Given the description of an element on the screen output the (x, y) to click on. 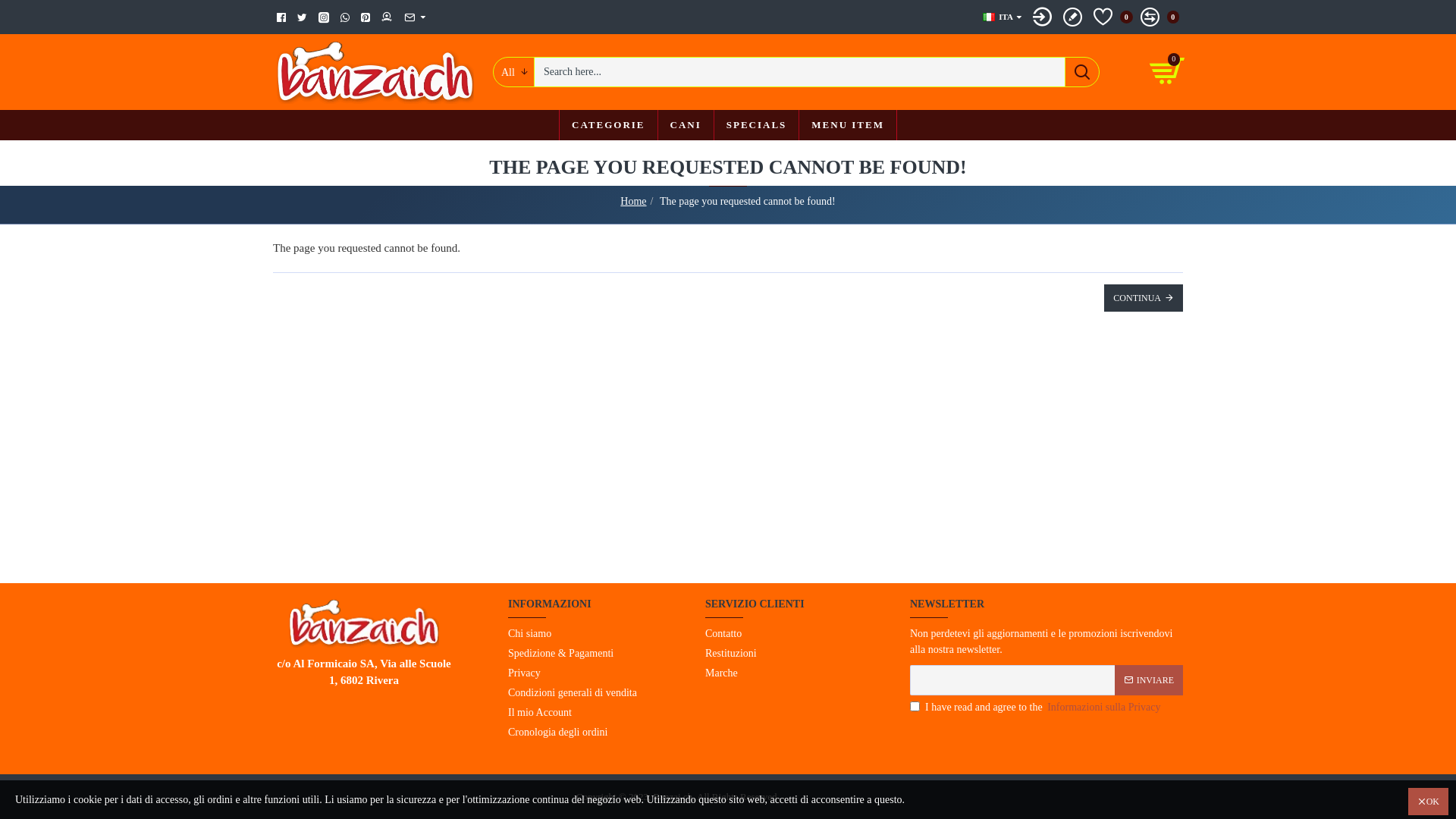
ITA Element type: text (997, 16)
Restituzioni Element type: text (730, 654)
The page you requested cannot be found! Element type: text (747, 201)
0 Element type: text (1159, 17)
ITA Element type: hover (988, 16)
Il mio Account Element type: text (539, 713)
Banzai.ch Element type: hover (374, 71)
CONTINUA Element type: text (1143, 297)
Privacy Element type: text (524, 674)
0 Element type: text (1167, 71)
OK Element type: text (1428, 801)
Condizioni generali di vendita Element type: text (572, 693)
Informazioni sulla Privacy Element type: text (1103, 707)
CATEGORIE Element type: text (608, 124)
MENU ITEM Element type: text (847, 124)
Cronologia degli ordini Element type: text (557, 733)
Chi siamo Element type: text (529, 634)
Home Element type: text (633, 201)
Spedizione & Pagamenti Element type: text (560, 654)
Marche Element type: text (721, 674)
INVIARE Element type: text (1148, 679)
SPECIALS Element type: text (756, 124)
0 Element type: text (1112, 17)
CANI Element type: text (685, 124)
Contatto Element type: text (723, 634)
